Given the description of an element on the screen output the (x, y) to click on. 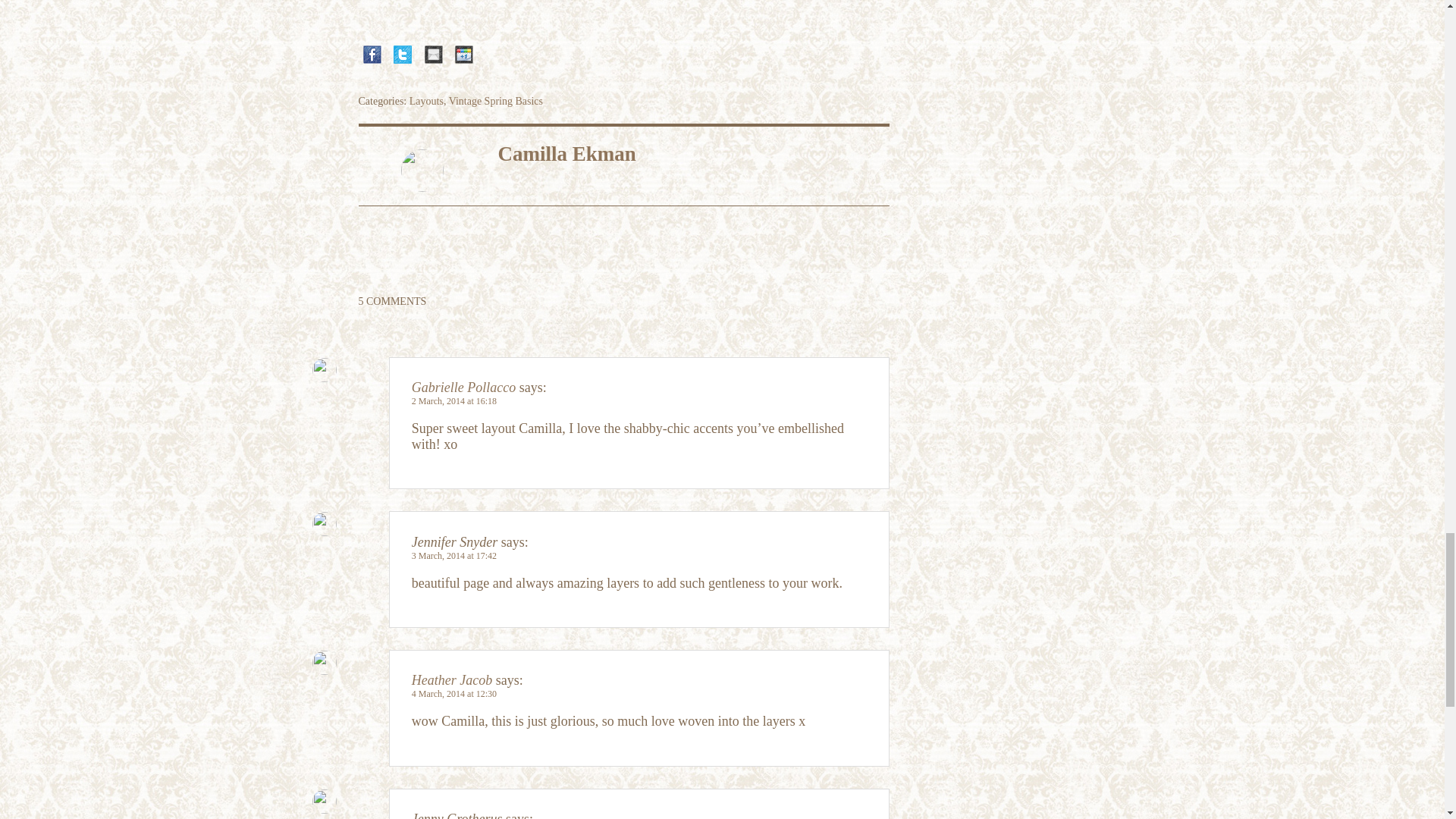
Camilla Ekman (565, 153)
Plusone (463, 59)
2 March, 2014 at 16:18 (454, 400)
Twitter (402, 59)
Facebook (371, 59)
4 March, 2014 at 12:30 (454, 693)
Vintage Spring Basics (495, 101)
Heather Jacob (452, 679)
Layouts (426, 101)
3 March, 2014 at 17:42 (454, 555)
